Given the description of an element on the screen output the (x, y) to click on. 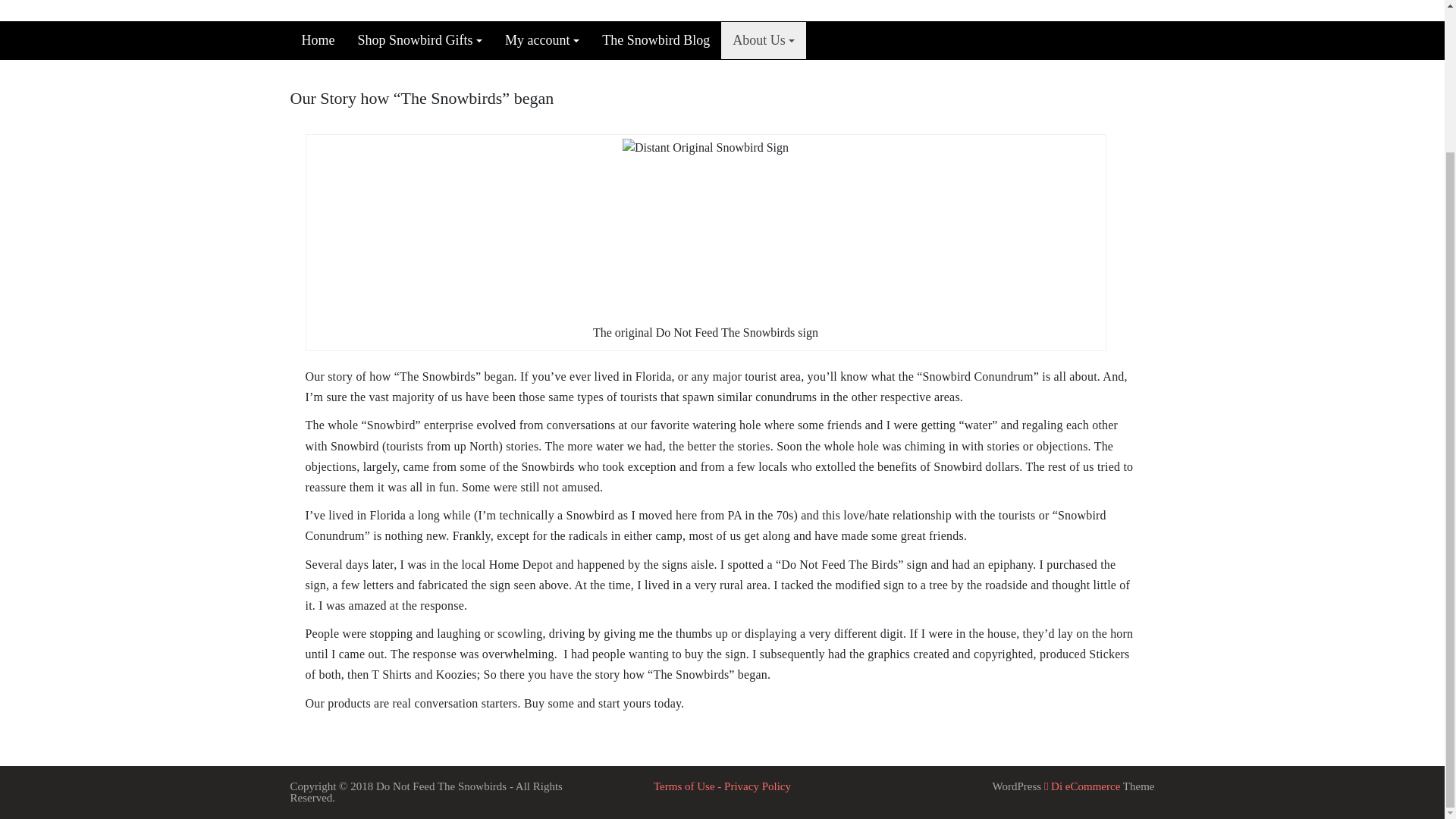
About Us (763, 40)
My account (542, 40)
Di eCommerce (1081, 786)
Shop Snowbird Gifts (419, 40)
Terms of Use - Privacy Policy (721, 786)
Home (317, 40)
The Snowbird Blog (655, 40)
